Given the description of an element on the screen output the (x, y) to click on. 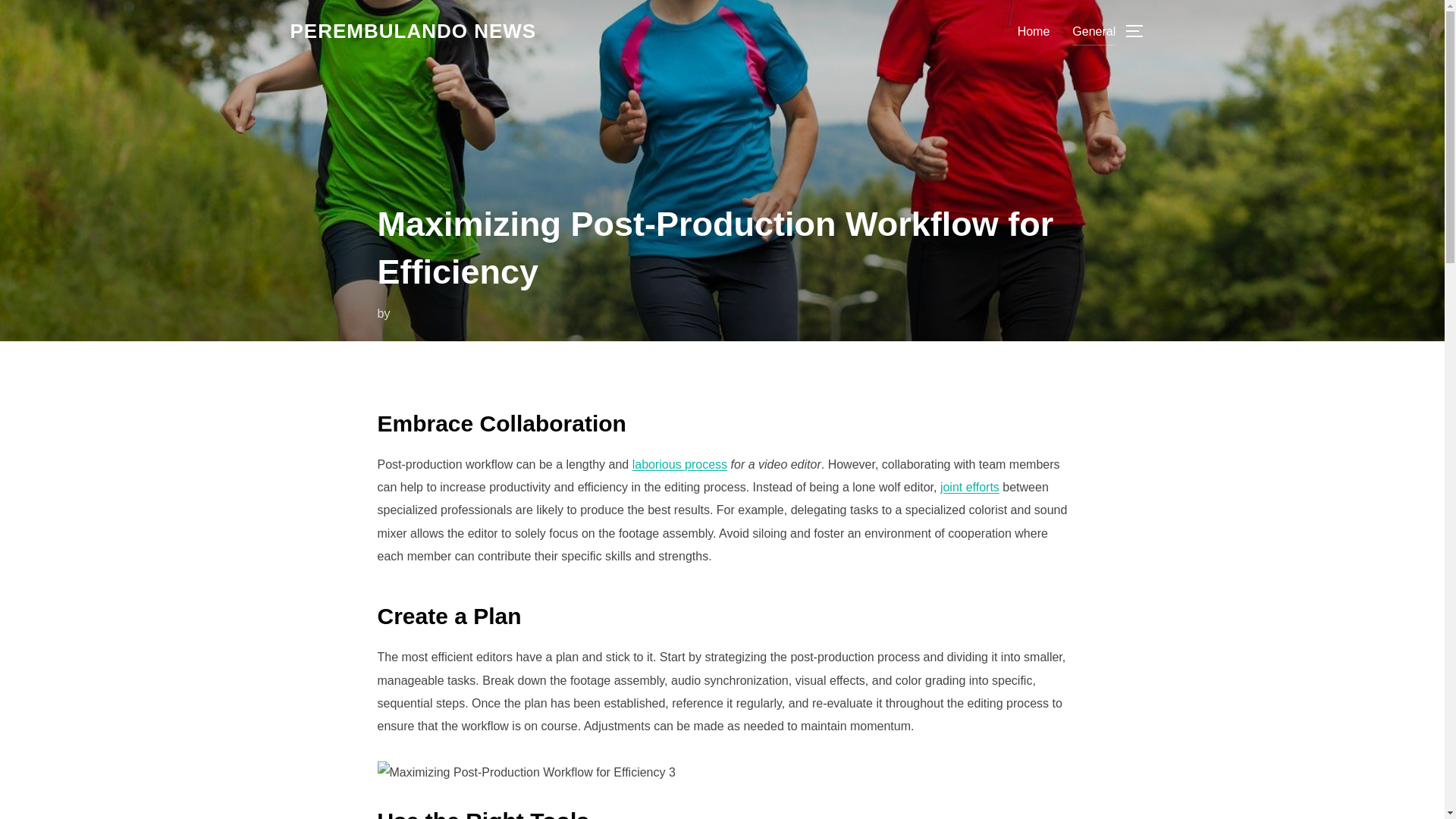
PEREMBULANDO NEWS (412, 31)
laborious process (678, 463)
joint efforts (969, 486)
General (1093, 30)
Blog (412, 31)
Home (1033, 30)
